Given the description of an element on the screen output the (x, y) to click on. 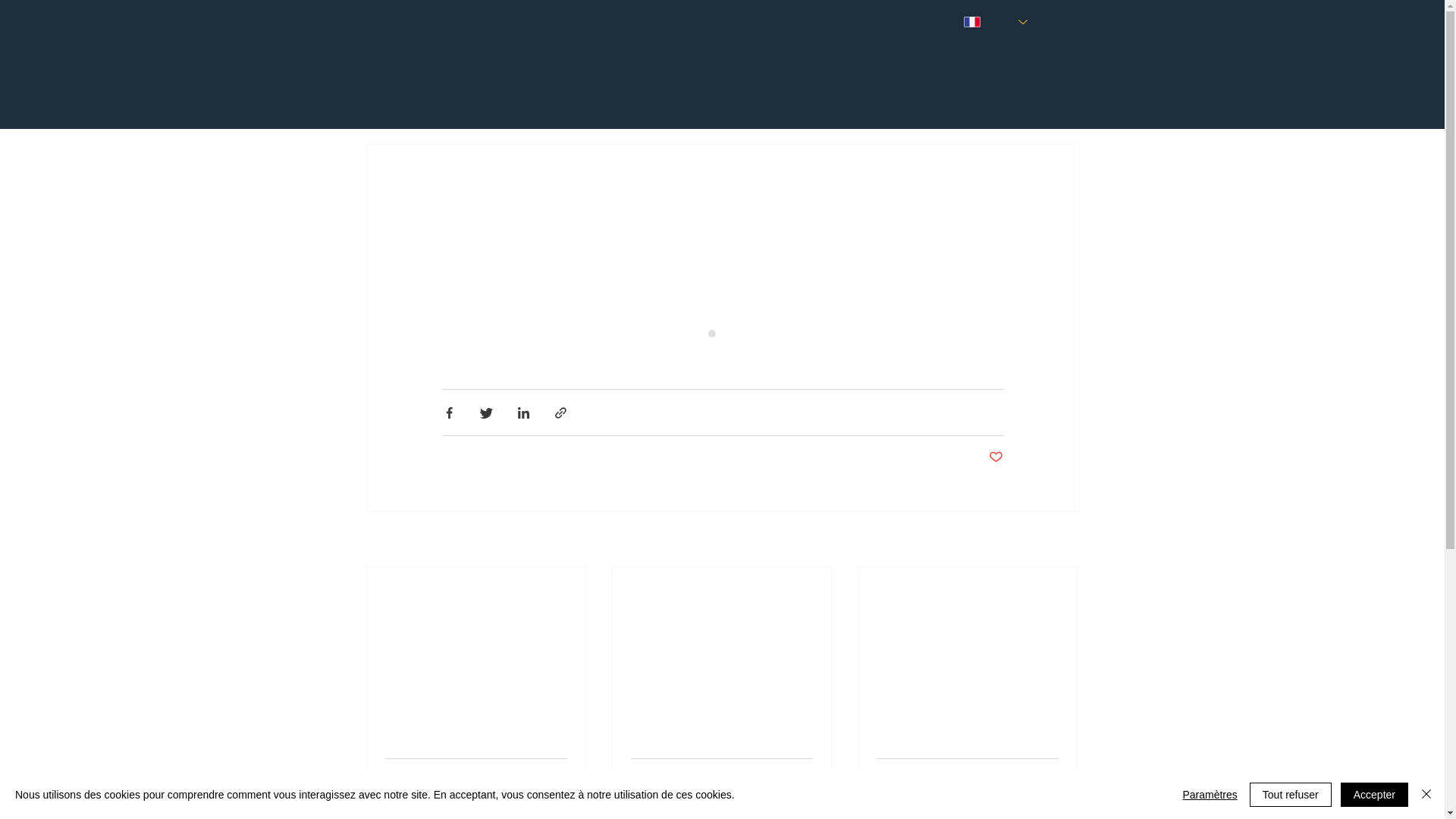
Accepter Element type: text (1374, 794)
Tout refuser Element type: text (1290, 794)
